Given the description of an element on the screen output the (x, y) to click on. 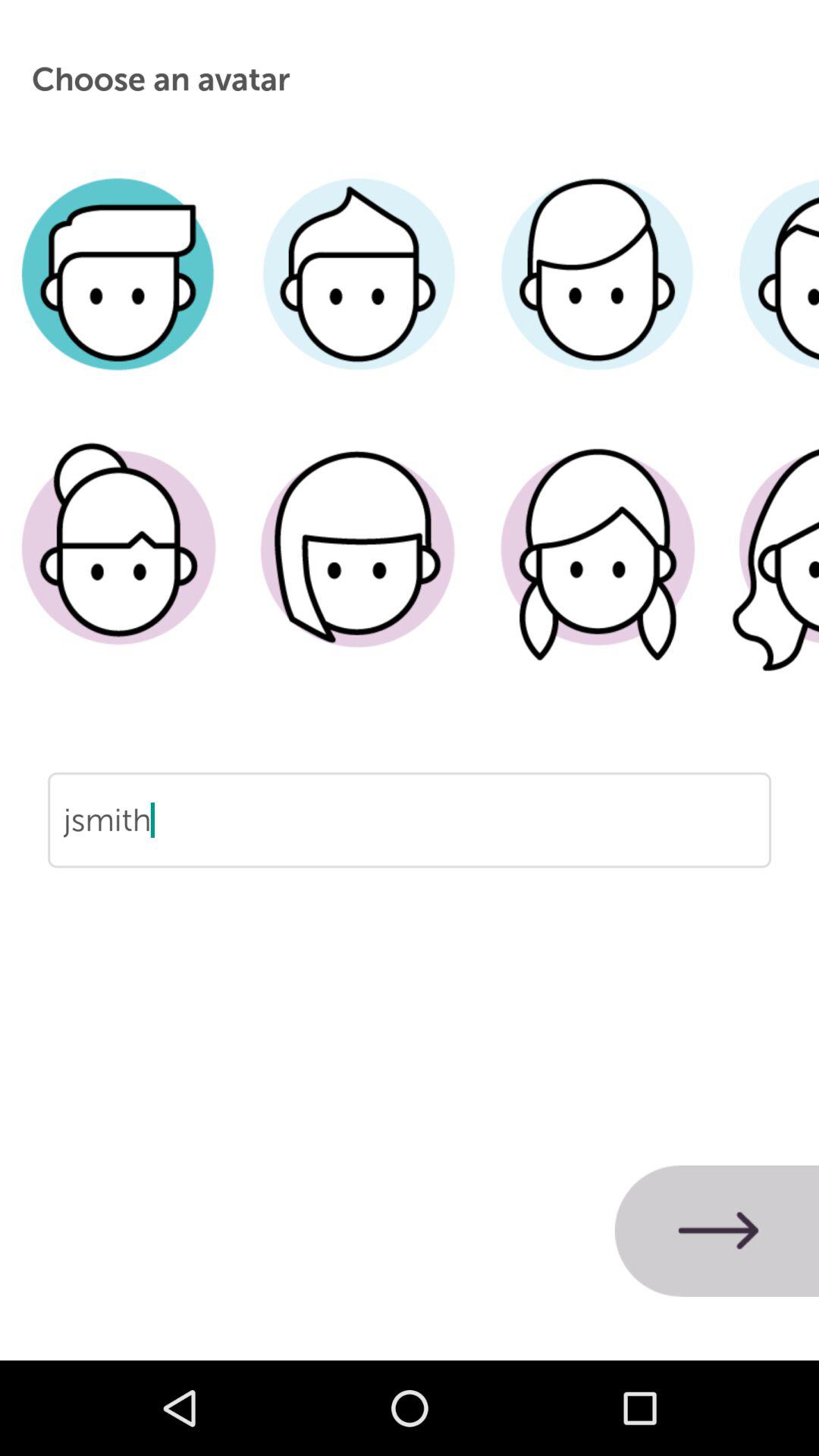
choose item at the bottom right corner (716, 1230)
